Given the description of an element on the screen output the (x, y) to click on. 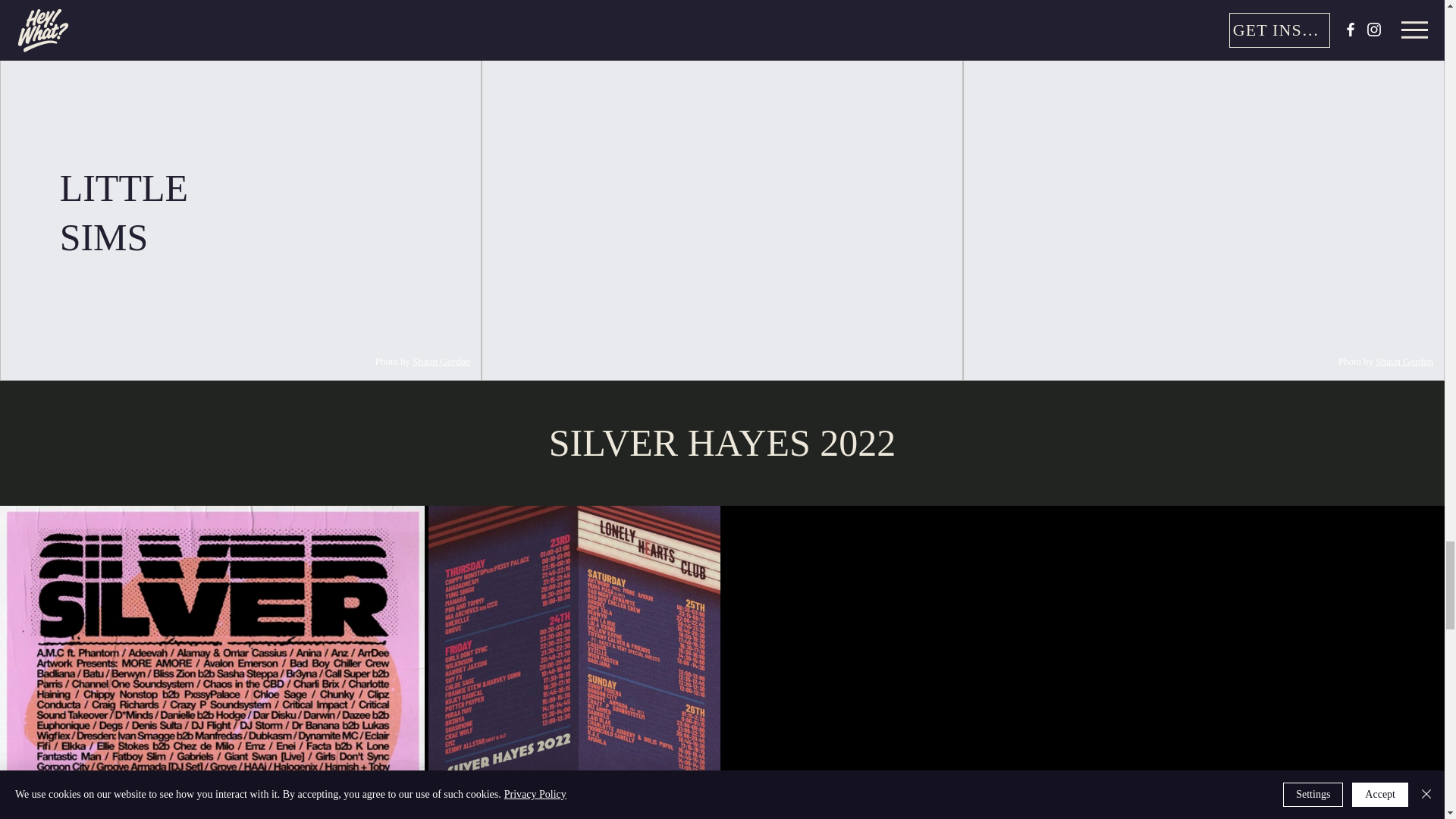
Shaun Gordon (1403, 360)
Shaun Gordon (441, 360)
